Given the description of an element on the screen output the (x, y) to click on. 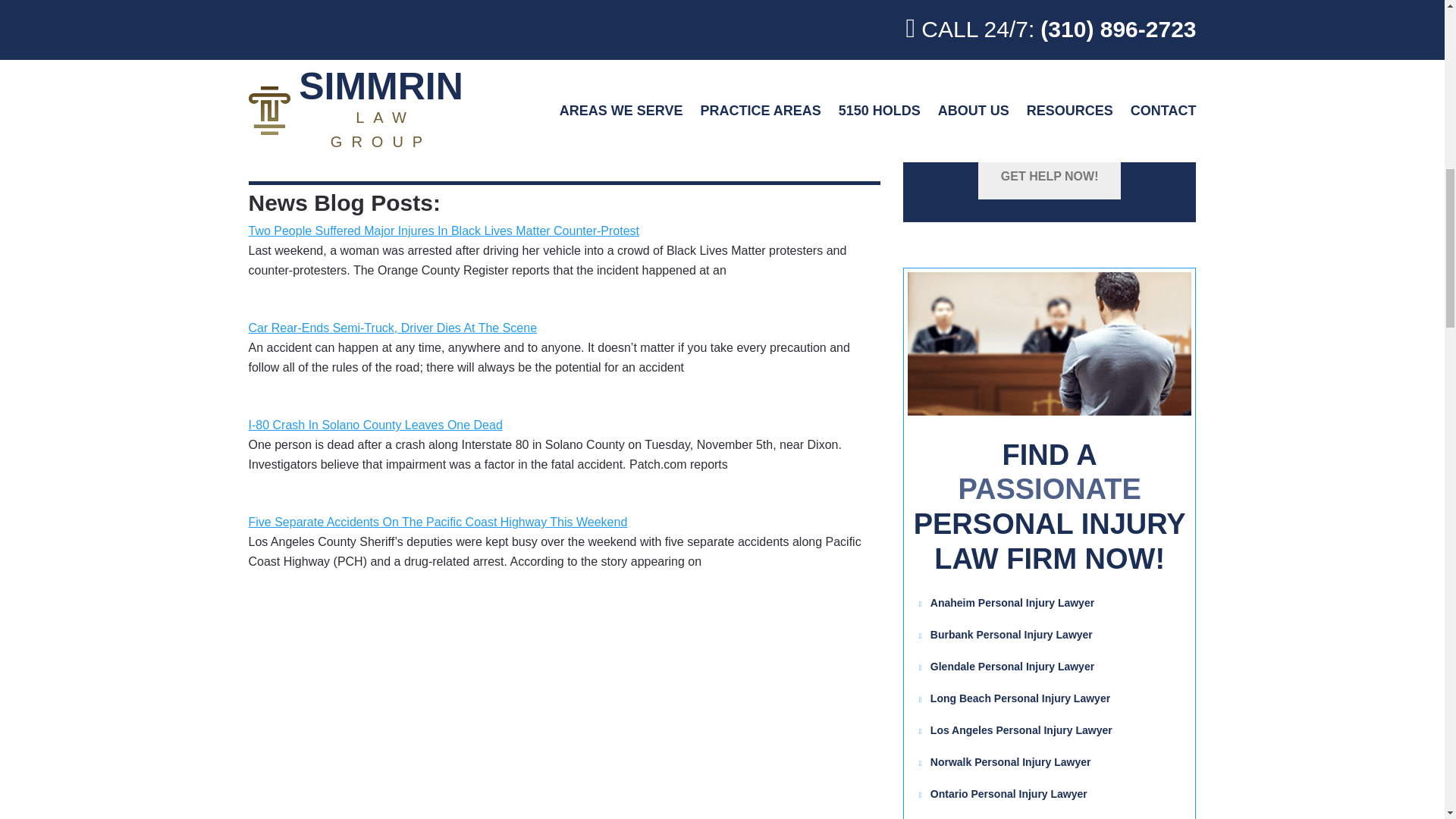
Get Help Now! (1049, 176)
